Given the description of an element on the screen output the (x, y) to click on. 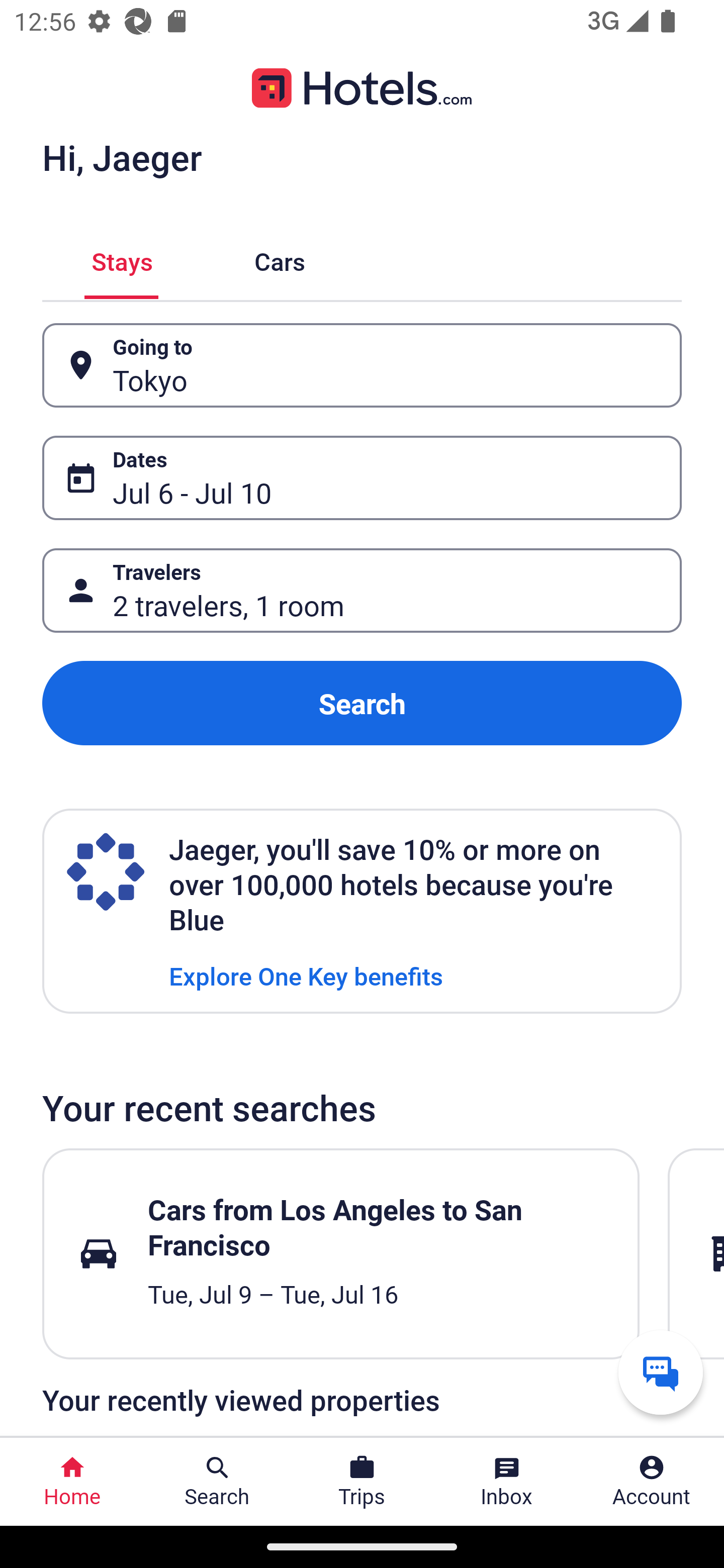
Hi, Jaeger (121, 156)
Cars (279, 259)
Going to Button Tokyo (361, 365)
Dates Button Jul 6 - Jul 10 (361, 477)
Travelers Button 2 travelers, 1 room (361, 590)
Search (361, 702)
Get help from a virtual agent (660, 1371)
Search Search Button (216, 1481)
Trips Trips Button (361, 1481)
Inbox Inbox Button (506, 1481)
Account Profile. Button (651, 1481)
